Given the description of an element on the screen output the (x, y) to click on. 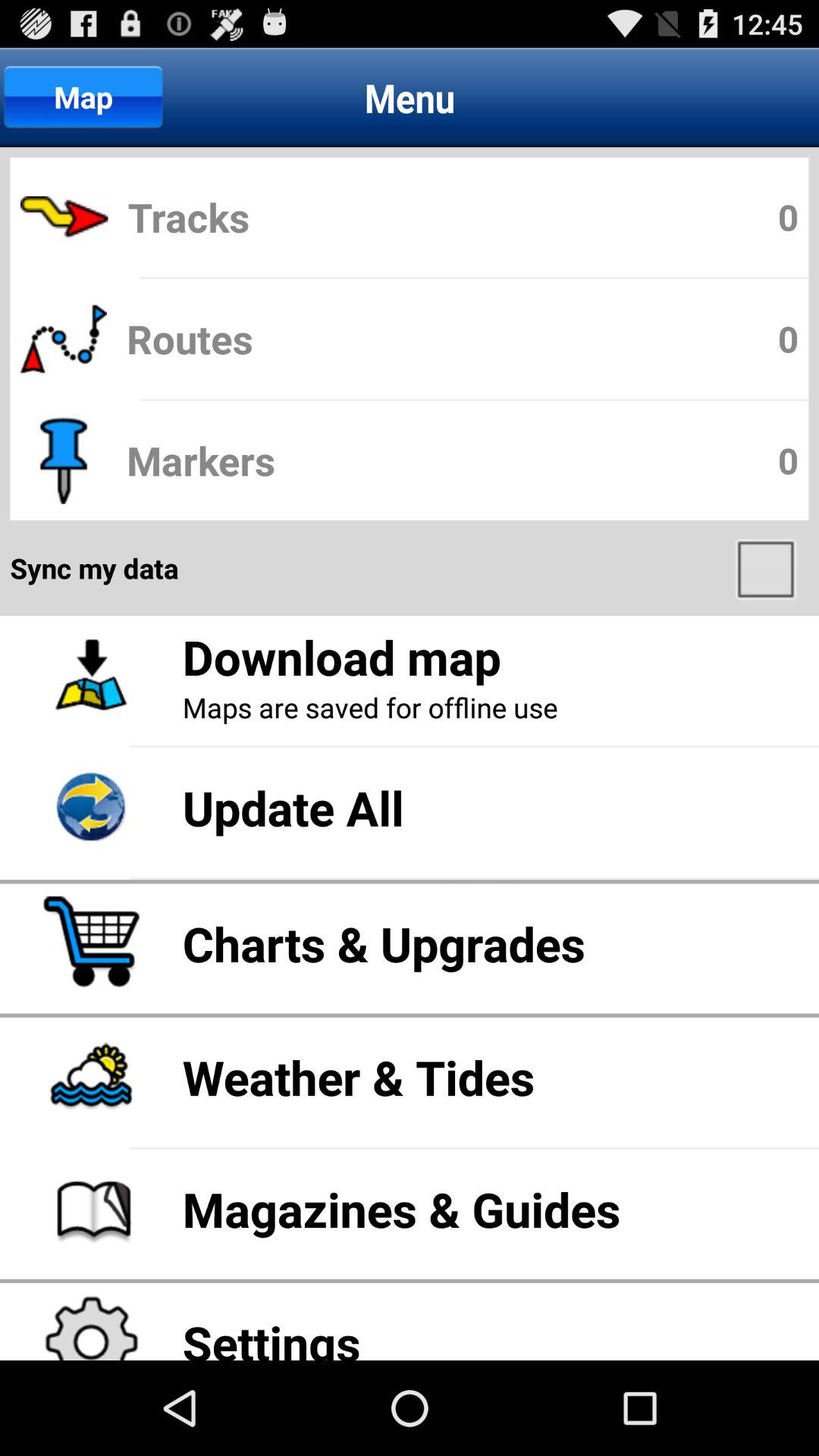
choose app below markers icon (767, 567)
